Given the description of an element on the screen output the (x, y) to click on. 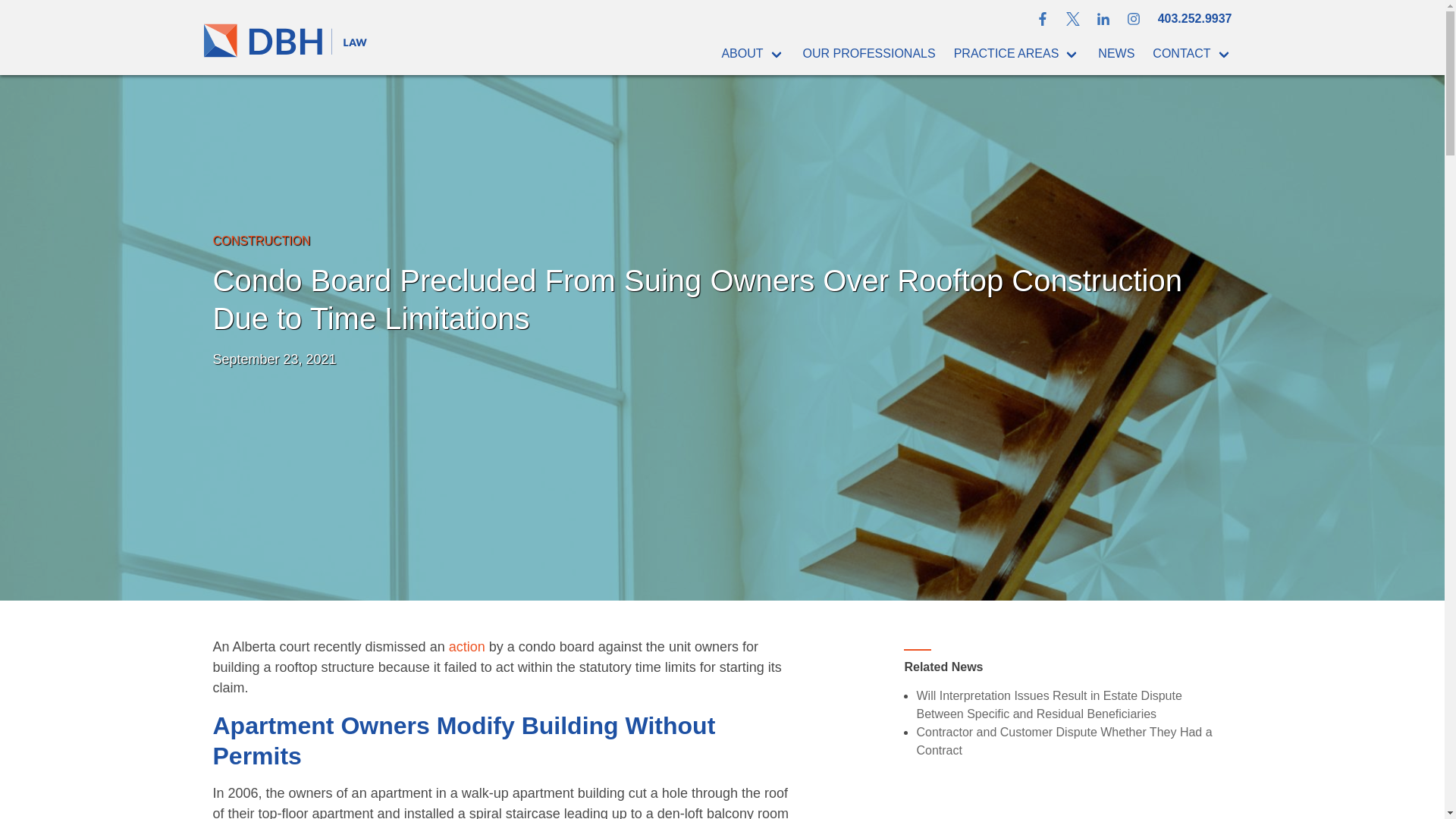
403.252.9937 (1194, 16)
ABOUT (752, 53)
OUR PROFESSIONALS (868, 53)
PRACTICE AREAS (1016, 53)
